Given the description of an element on the screen output the (x, y) to click on. 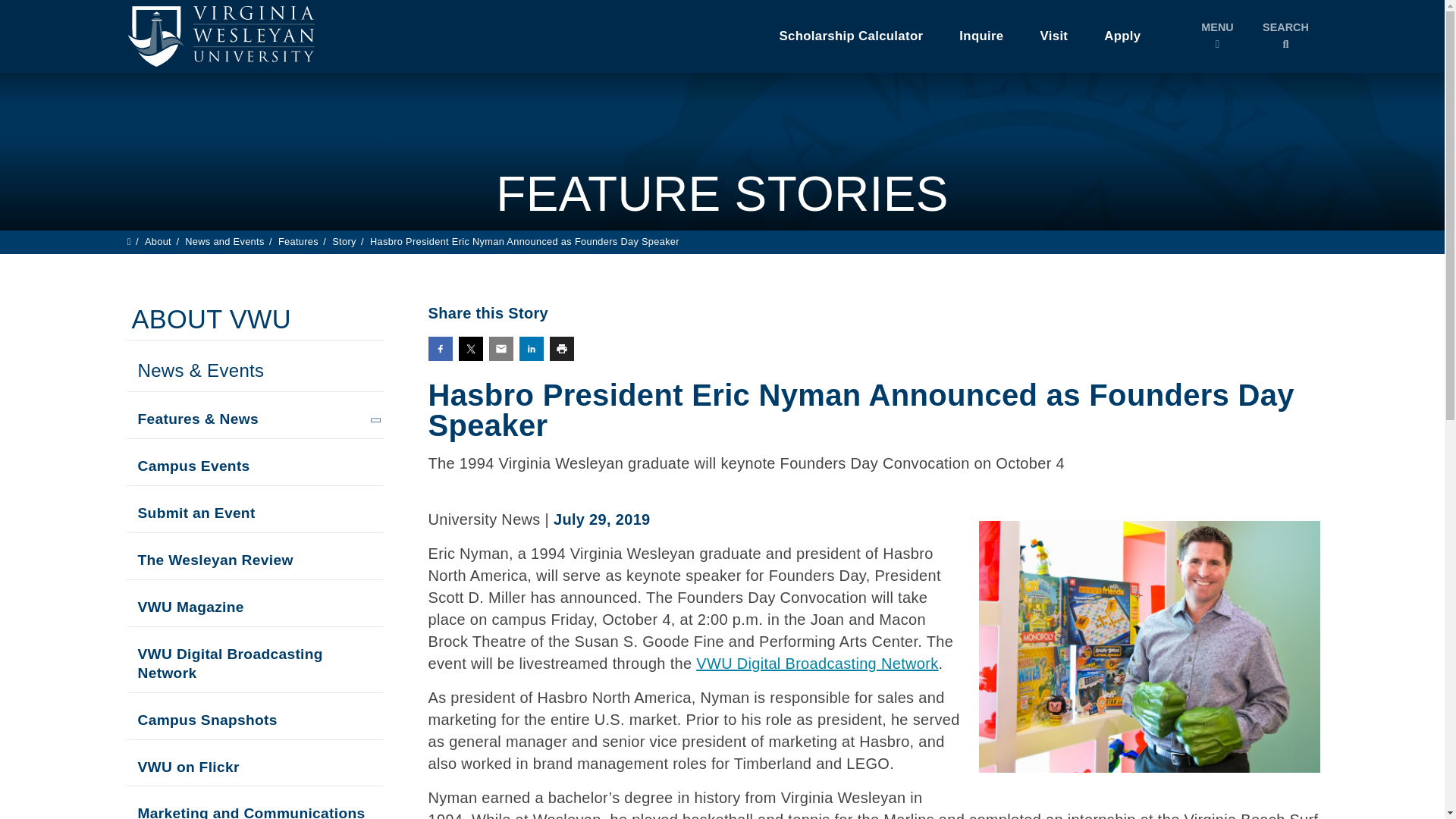
VWU Homemage (218, 35)
SEARCH (1284, 35)
Scholarship Calculator (851, 35)
Apply (1122, 35)
Inquire (980, 35)
Visit (1054, 35)
MENU (1216, 35)
